Given the description of an element on the screen output the (x, y) to click on. 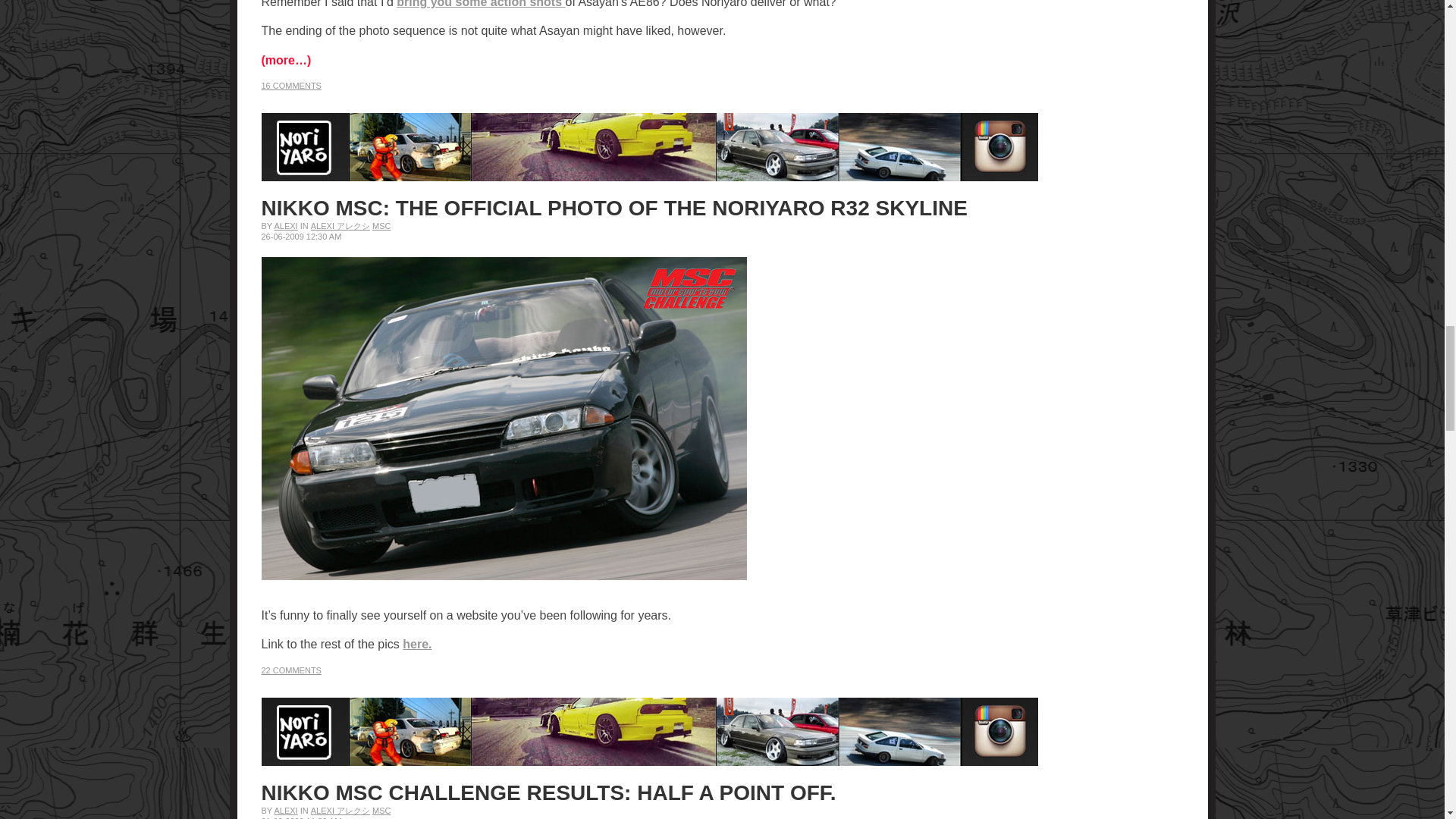
Posts by Alexi (285, 809)
Posts by Alexi (285, 225)
NIKKO MSC: The official photo of the Noriyaro R32 Skyline (613, 208)
NIKKO MSC: THE OFFICIAL PHOTO OF THE NORIYARO R32 SKYLINE (613, 208)
NIKKO MSC CHALLENGE RESULTS: Half a point off. (547, 792)
bring you some action shots (480, 4)
ALEXI (285, 225)
ALEXI (285, 809)
22 COMMENTS (290, 669)
MSC (381, 225)
MSC (381, 809)
here. (416, 644)
16 COMMENTS (290, 85)
NIKKO MSC CHALLENGE RESULTS: HALF A POINT OFF. (547, 792)
